Given the description of an element on the screen output the (x, y) to click on. 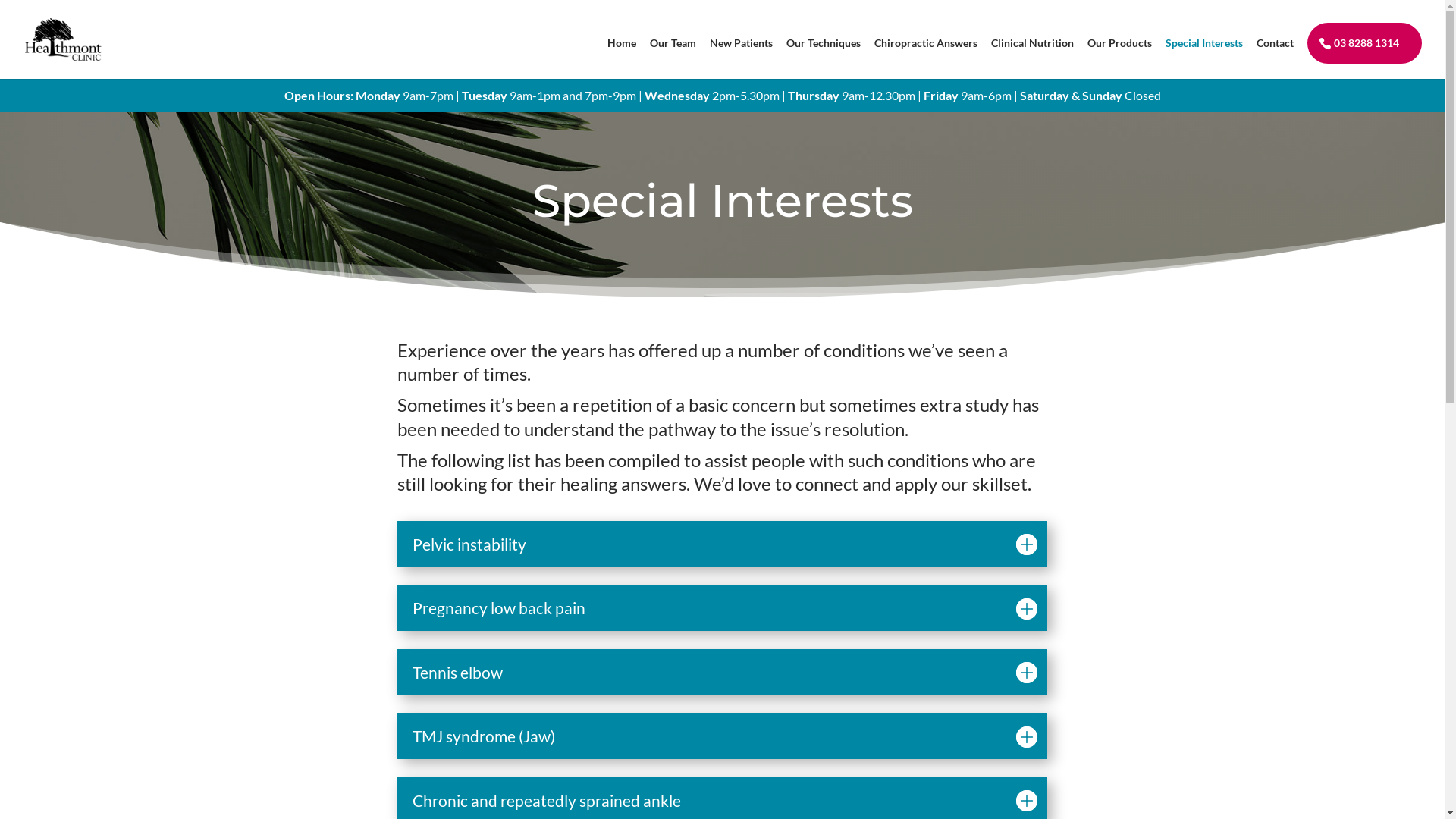
Our Team Element type: text (672, 54)
Special Interests Element type: text (1203, 54)
Chiropractic Answers Element type: text (925, 54)
Clinical Nutrition Element type: text (1032, 54)
Our Products Element type: text (1119, 54)
03 8288 1314 Element type: text (1358, 42)
Home Element type: text (621, 54)
Contact Element type: text (1274, 54)
Our Techniques Element type: text (823, 54)
New Patients Element type: text (740, 54)
